Given the description of an element on the screen output the (x, y) to click on. 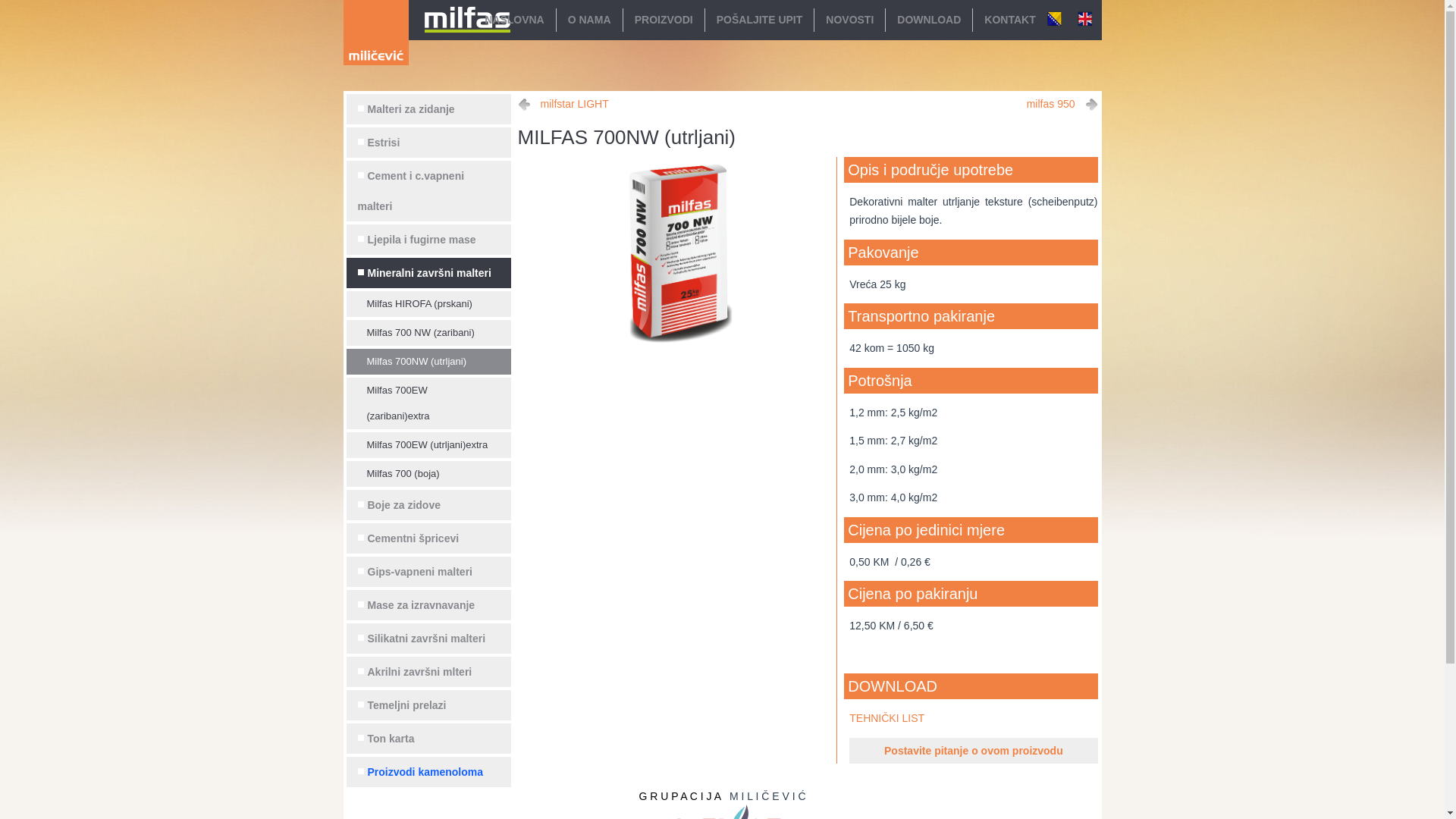
Temeljni prelazi Element type: text (427, 705)
Ljepila i fugirne mase Element type: text (427, 239)
Estrisi Element type: text (427, 142)
Milfas 700NW (utrljani) Element type: text (427, 361)
Postavite pitanje o ovom proizvodu Element type: text (973, 750)
Milfas HIROFA (prskani) Element type: text (427, 303)
Cement i c.vapneni malteri Element type: text (427, 190)
Milfas 700EW (utrljani)extra Element type: text (427, 445)
milfstar LIGHT Element type: text (562, 103)
O NAMA Element type: text (589, 20)
Malteri za zidanje Element type: text (427, 109)
milfas 950 Element type: text (1062, 103)
NASLOVNA Element type: text (514, 20)
Boje za zidove Element type: text (427, 504)
Milfas 700EW (zaribani)extra Element type: text (427, 403)
NOVOSTI Element type: text (849, 20)
Gips-vapneni malteri Element type: text (427, 571)
KONTAKT Element type: text (1009, 20)
DOWNLOAD Element type: text (928, 20)
Ton karta Element type: text (427, 738)
Milfas 700 NW (zaribani) Element type: text (427, 332)
Milfas 700 (boja) Element type: text (427, 473)
Proizvodi kamenoloma Element type: text (427, 771)
Mase za izravnavanje Element type: text (427, 604)
PROIZVODI Element type: text (663, 20)
